Given the description of an element on the screen output the (x, y) to click on. 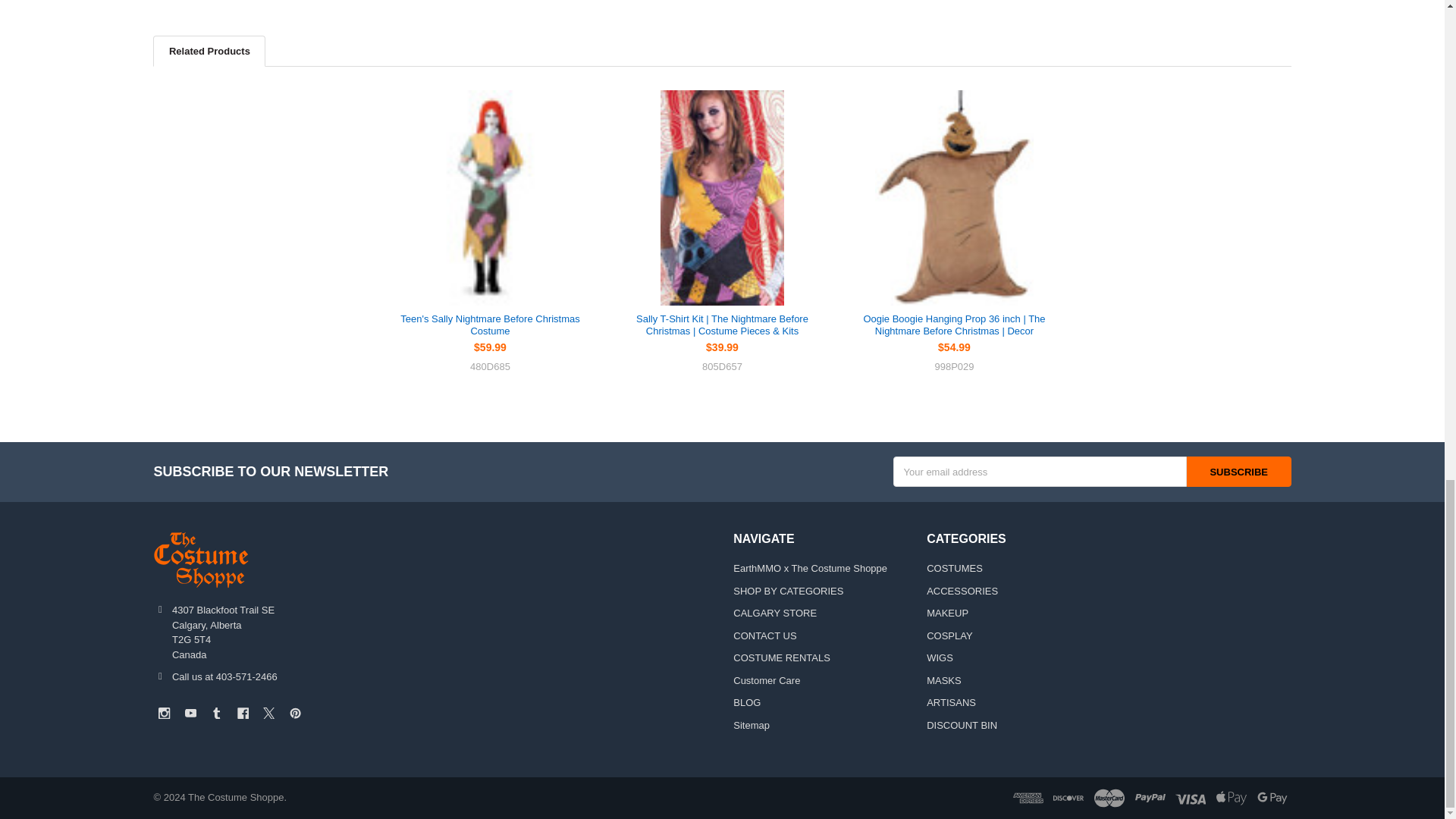
Subscribe (1238, 471)
Teen's Sally Nightmare Before Christmas Costume (488, 197)
